Given the description of an element on the screen output the (x, y) to click on. 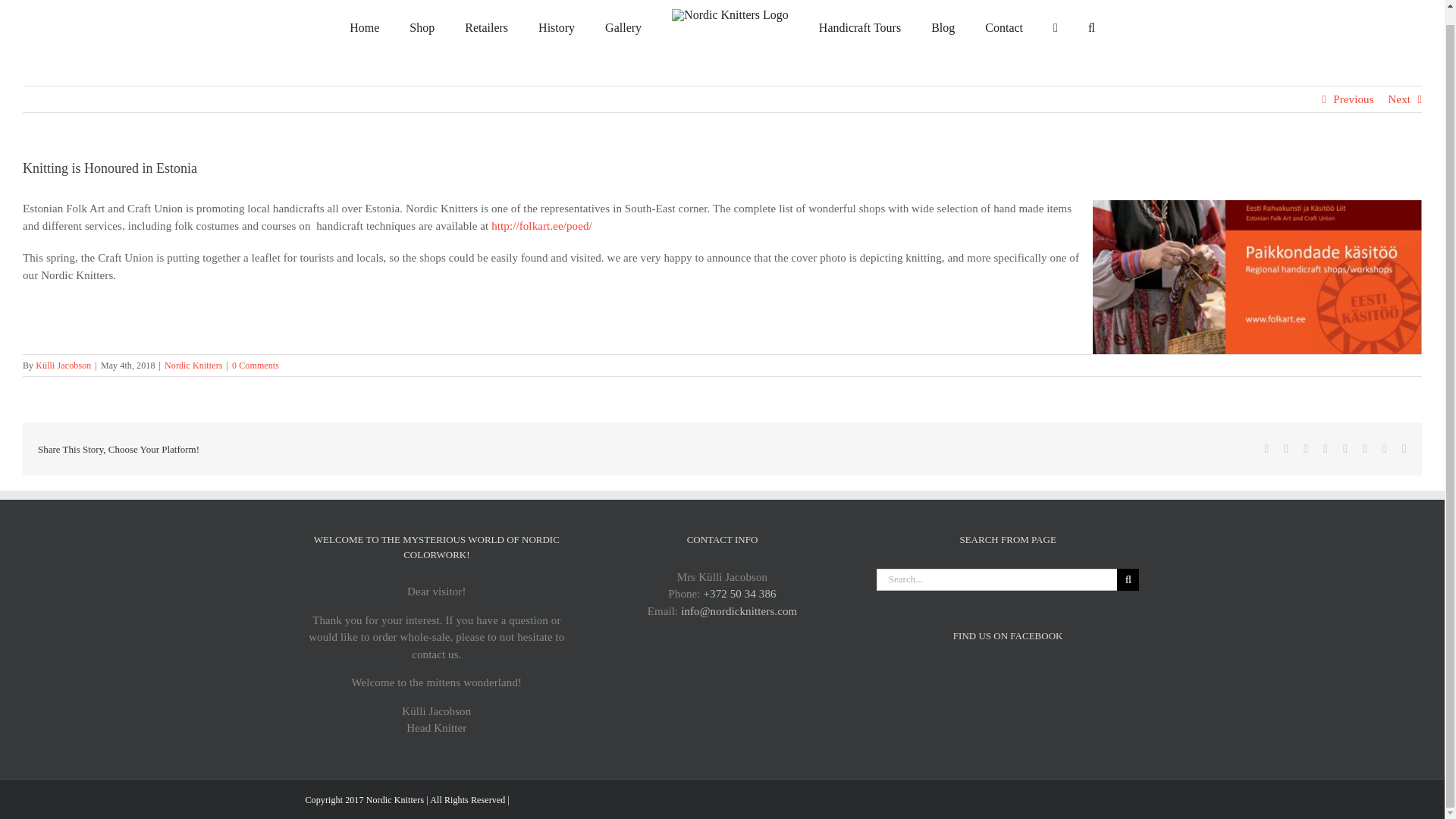
Handicraft Tours (859, 28)
Gallery (623, 28)
Home (363, 28)
Contact (1004, 28)
Previous (1353, 99)
Nordic Knitters (193, 365)
0 Comments (255, 365)
History (556, 28)
Nordic Knitters (394, 799)
Retailers (486, 28)
